Given the description of an element on the screen output the (x, y) to click on. 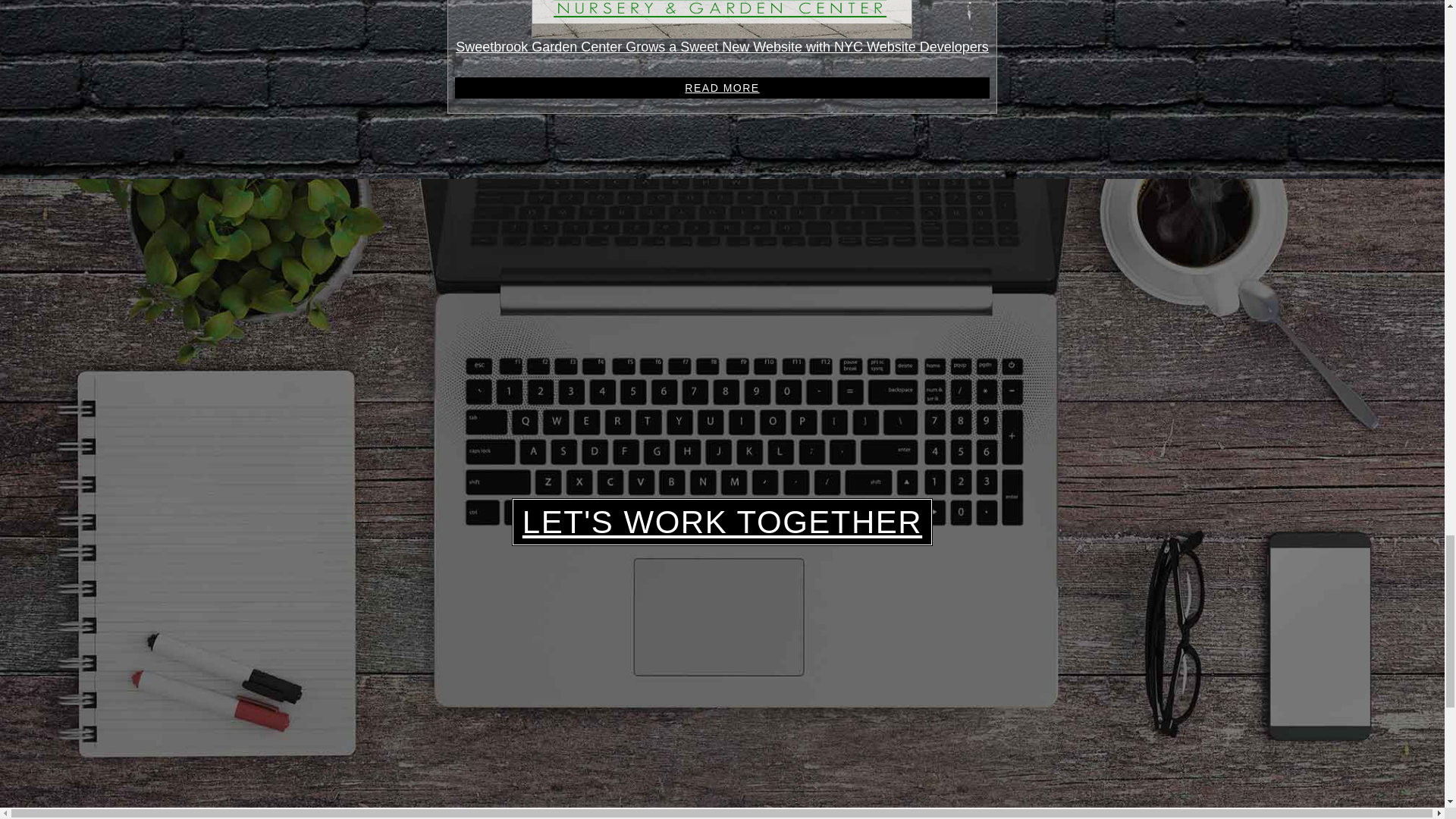
LET'S WORK TOGETHER (721, 521)
READ MORE (721, 87)
